Given the description of an element on the screen output the (x, y) to click on. 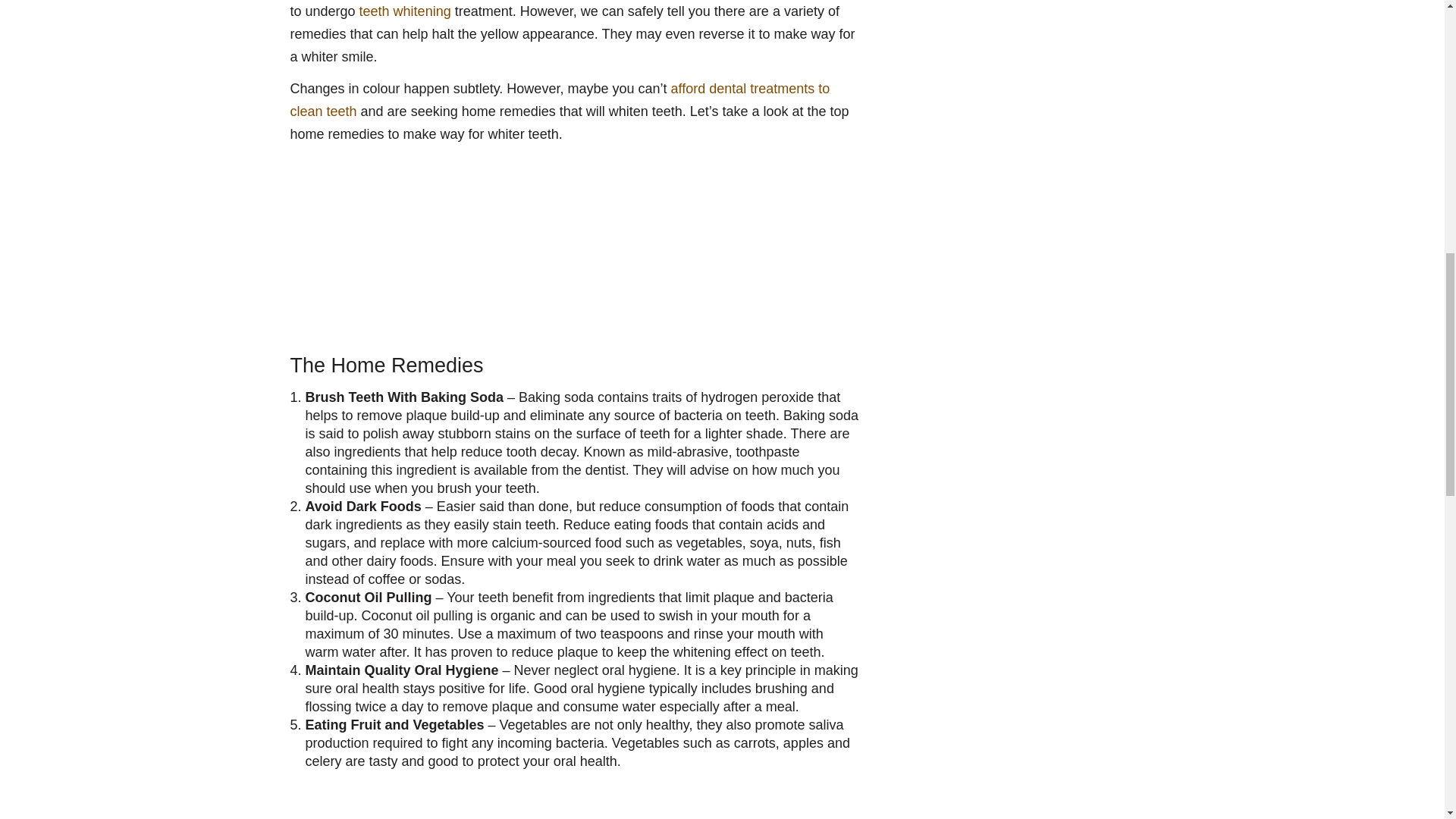
Remedies To Make Way For Whiter Teeth 2 (423, 243)
Remedies To Make Way For Whiter Teeth 3 (410, 803)
